Given the description of an element on the screen output the (x, y) to click on. 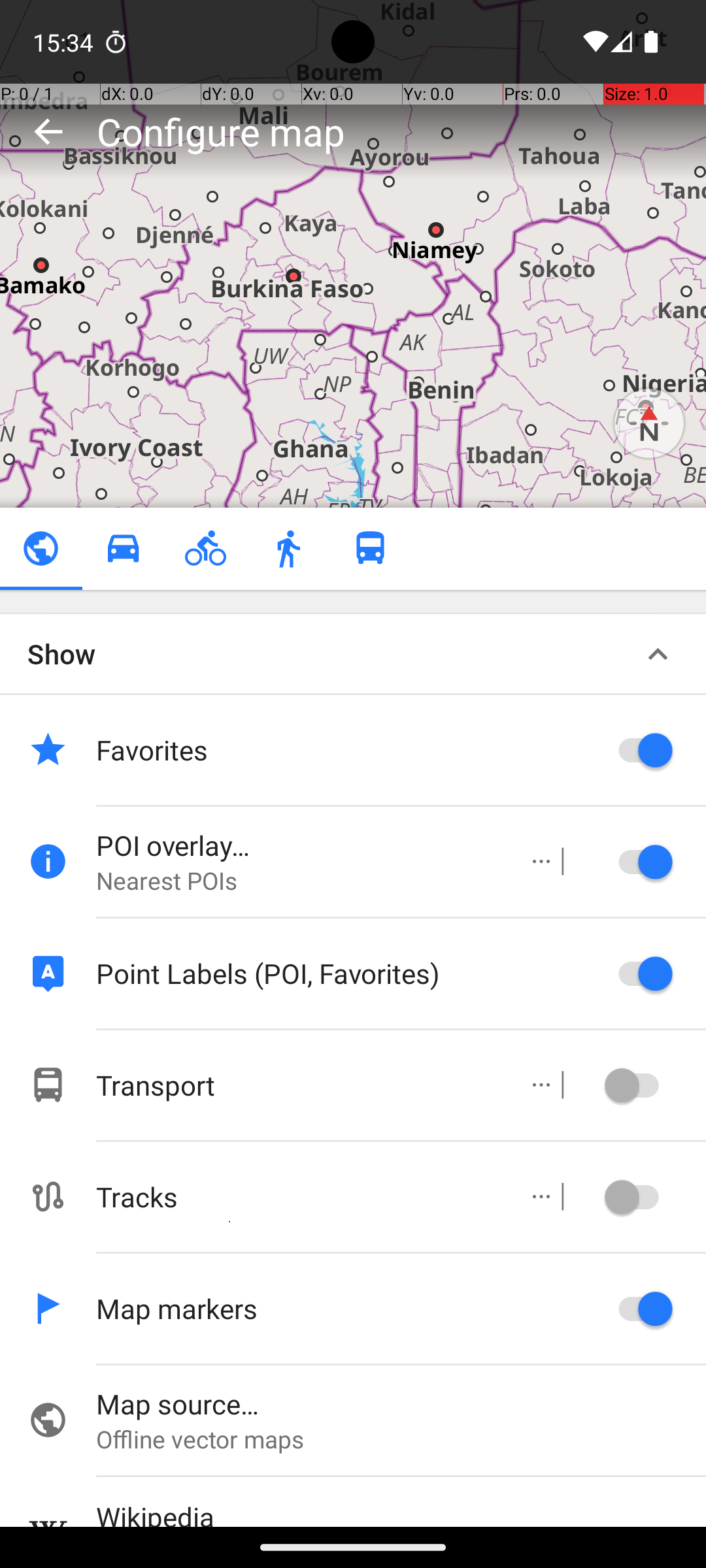
Browse map checked Element type: android.widget.ImageView (40, 548)
Nearest POIs Element type: android.widget.TextView (298, 880)
